Given the description of an element on the screen output the (x, y) to click on. 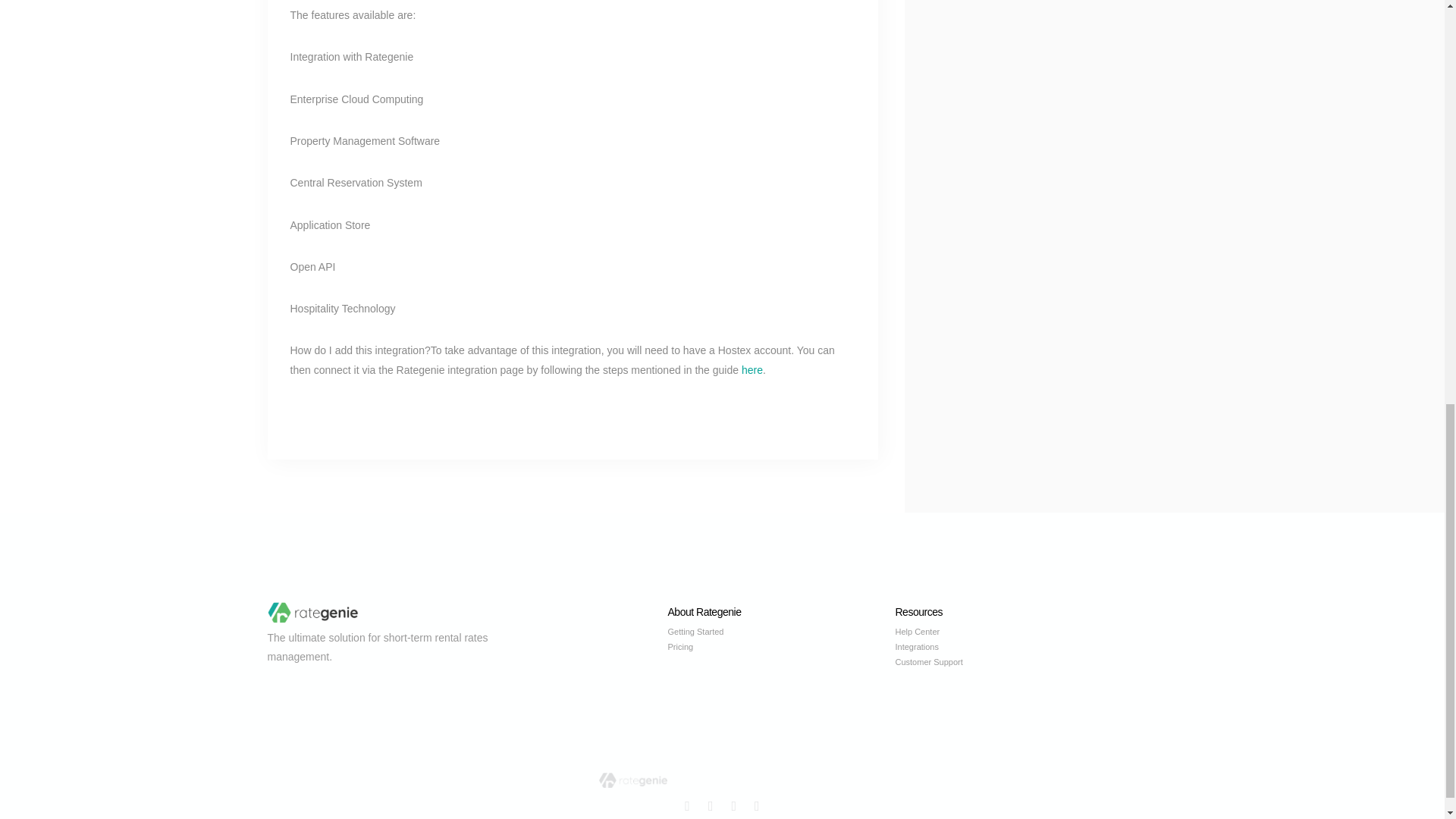
Pricing (780, 647)
here (751, 369)
Help Center (1008, 631)
Getting Started (780, 631)
Integrations (1008, 647)
Customer Support (1008, 662)
